Given the description of an element on the screen output the (x, y) to click on. 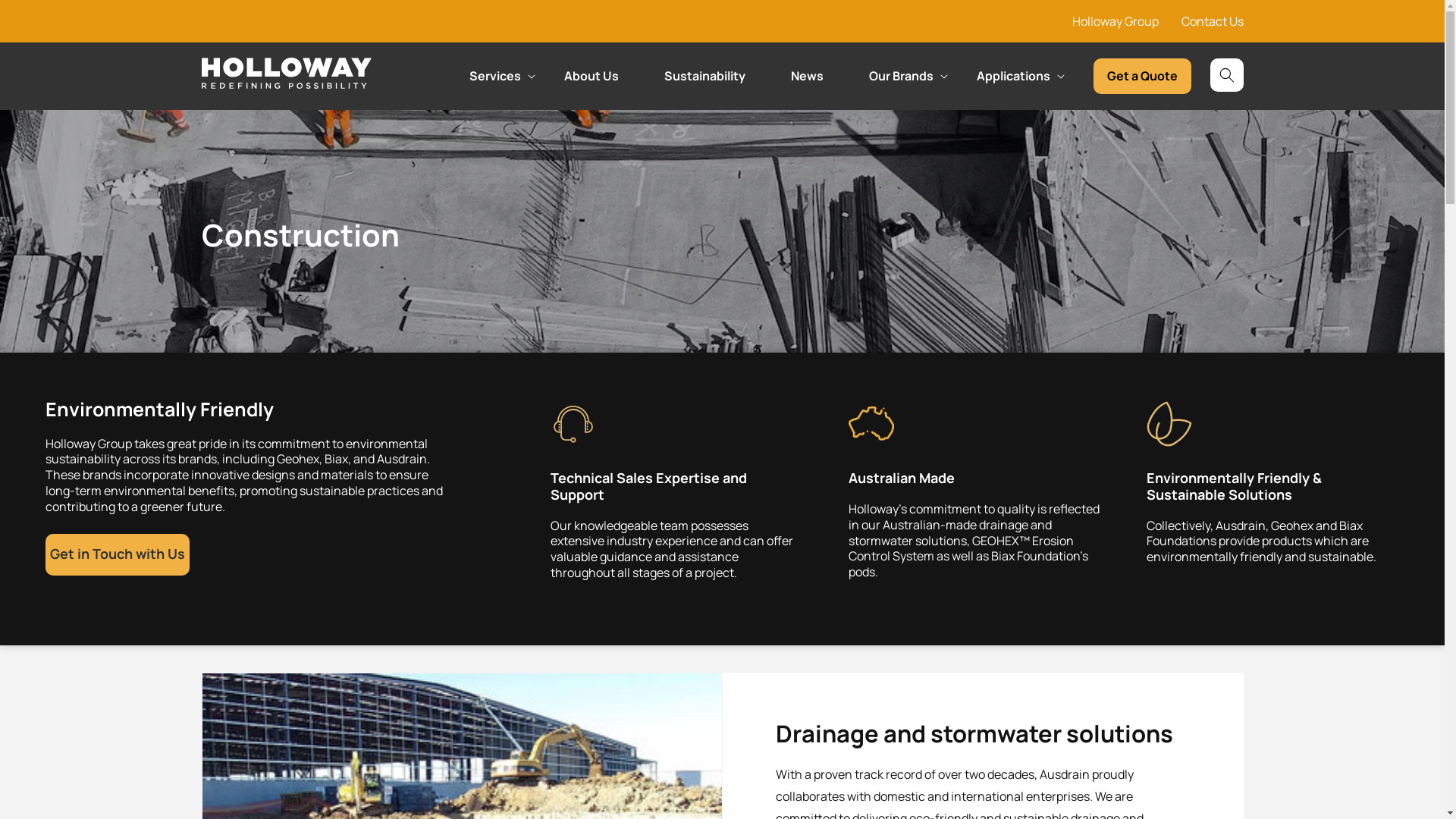
Get a Quote Element type: text (1142, 76)
Holloway Group Element type: text (1115, 20)
Sustainability Element type: text (704, 88)
News Element type: text (806, 88)
Home Element type: text (217, 64)
Contact Us Element type: text (1212, 20)
About Us Element type: text (591, 88)
Get in Touch with Us Element type: text (117, 554)
Construction Element type: text (287, 64)
